Given the description of an element on the screen output the (x, y) to click on. 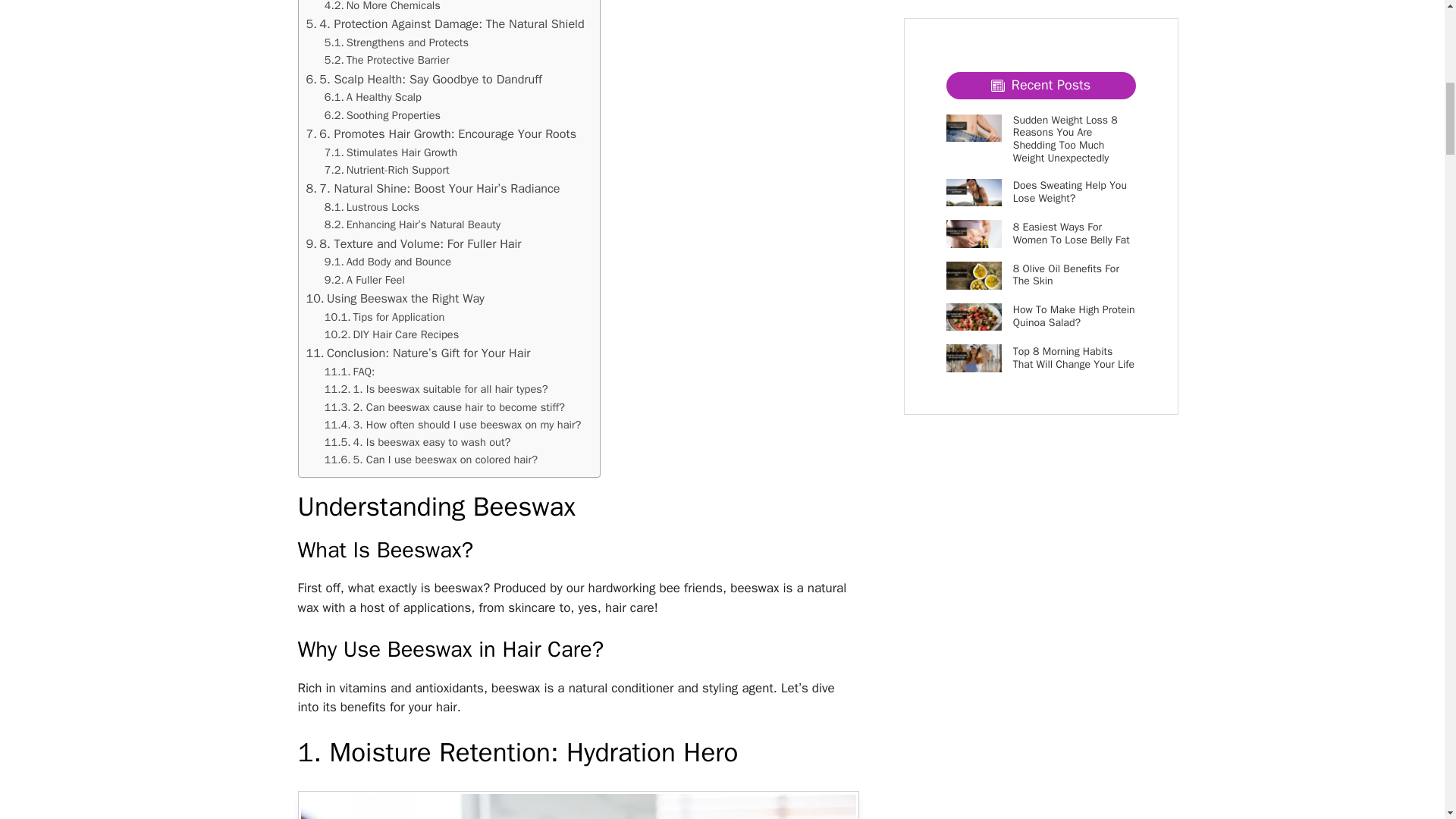
Stimulates Hair Growth (390, 152)
Strengthens and Protects (396, 42)
The Protective Barrier (386, 59)
Lustrous Locks (371, 207)
Nutrient-Rich Support (386, 170)
5. Scalp Health: Say Goodbye to Dandruff (423, 79)
Soothing Properties (382, 115)
A Healthy Scalp (373, 97)
8. Texture and Volume: For Fuller Hair (413, 243)
6. Promotes Hair Growth: Encourage Your Roots (440, 134)
No More Chemicals (382, 7)
4. Protection Against Damage: The Natural Shield (445, 24)
